Given the description of an element on the screen output the (x, y) to click on. 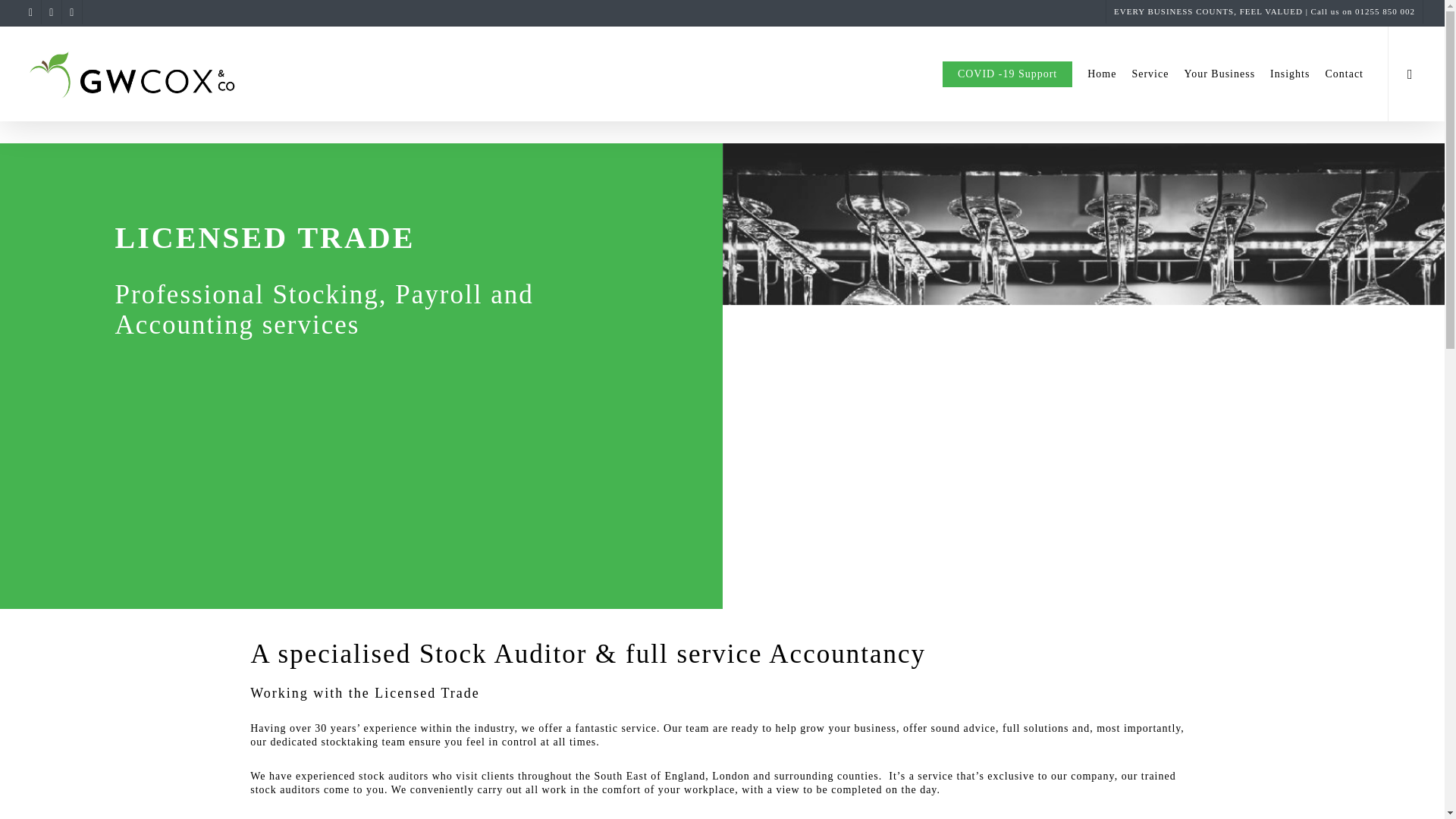
COVID -19 Support (1006, 73)
Service (1150, 73)
Contact (1344, 73)
Home (1102, 73)
Insights (1289, 73)
Your Business (1219, 73)
